Given the description of an element on the screen output the (x, y) to click on. 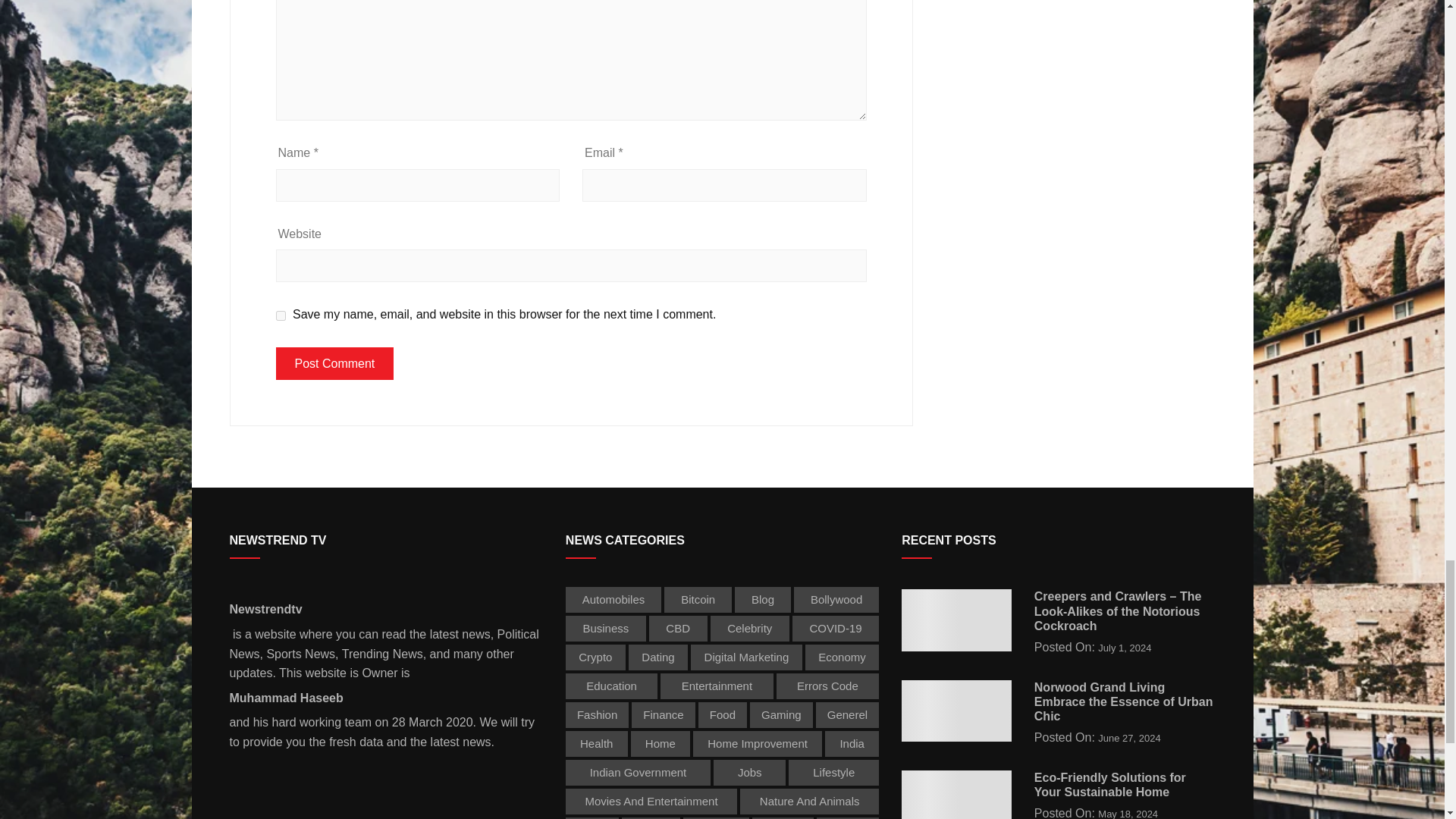
yes (280, 316)
Post Comment (335, 363)
